Given the description of an element on the screen output the (x, y) to click on. 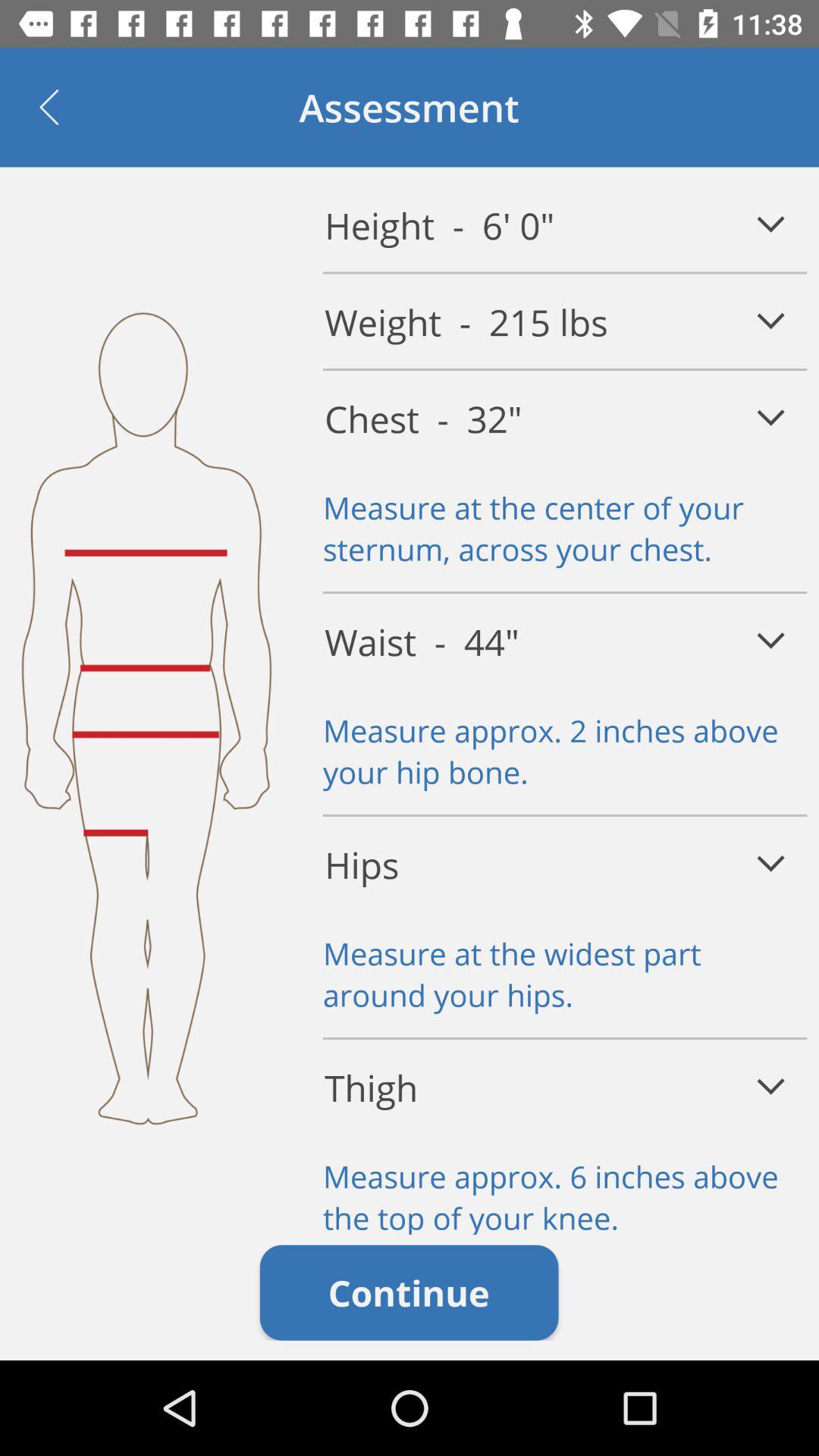
choose icon to the left of the assessment icon (49, 107)
